Given the description of an element on the screen output the (x, y) to click on. 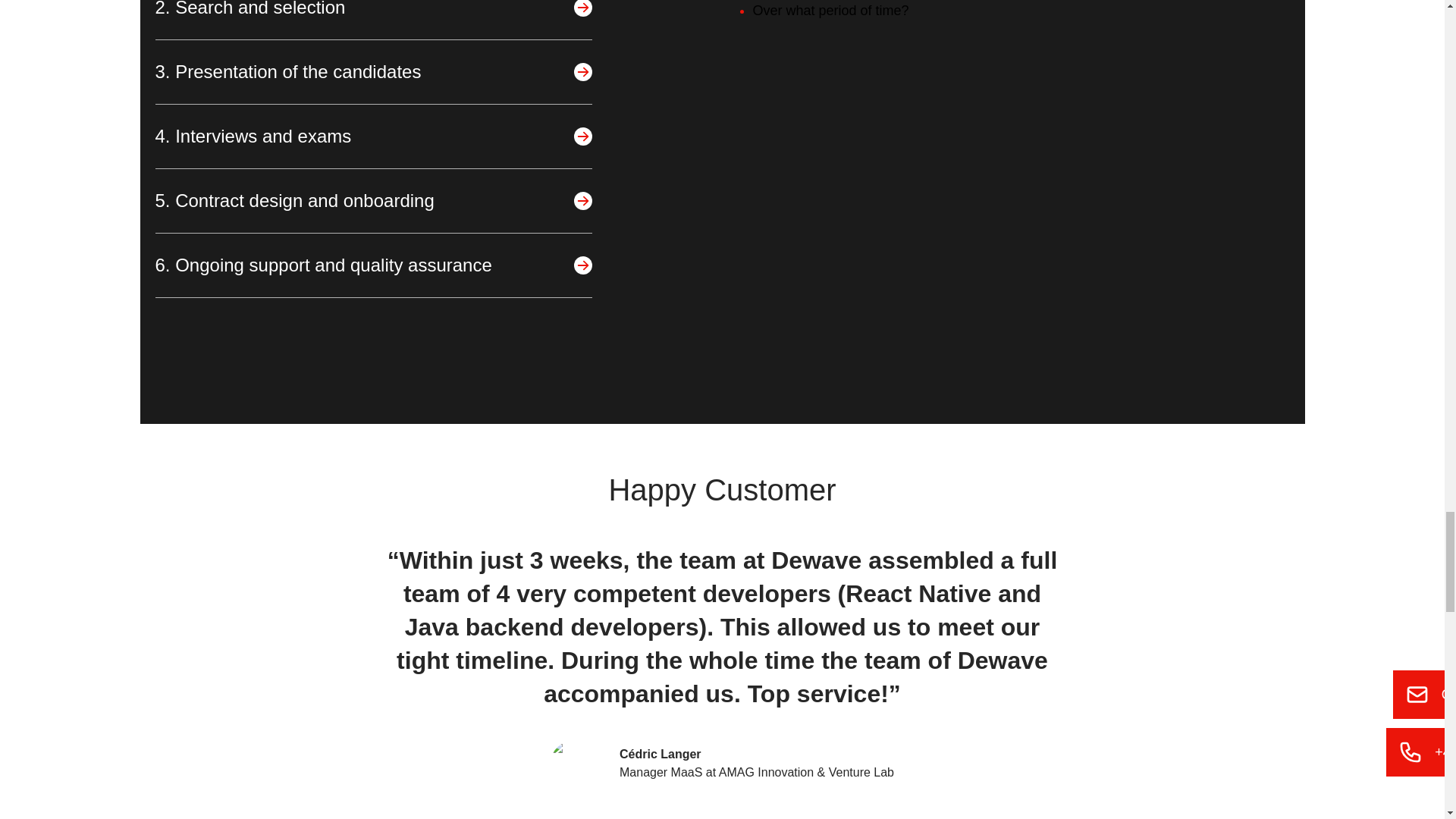
2. Search and selection (372, 19)
3. Presentation of the candidates (372, 71)
6. Ongoing support and quality assurance (372, 265)
5. Contract design and onboarding (372, 200)
4. Interviews and exams (372, 136)
